Given the description of an element on the screen output the (x, y) to click on. 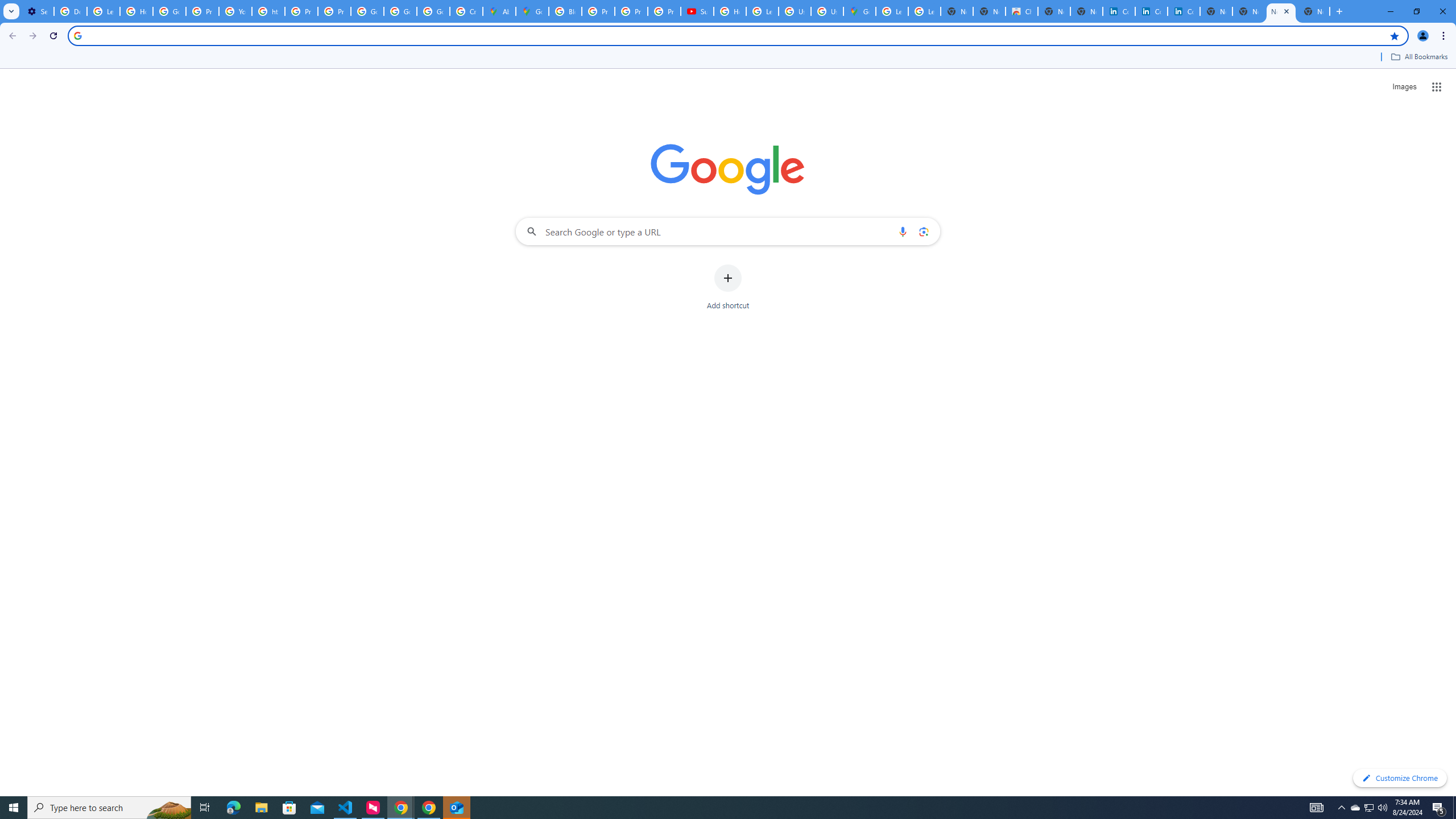
Search by image (922, 230)
Back (10, 35)
Add shortcut (727, 287)
Search by voice (902, 230)
Address and search bar (735, 35)
YouTube (235, 11)
You (1422, 35)
Minimize (1390, 11)
New Tab (1313, 11)
Copyright Policy (1183, 11)
Search icon (77, 35)
Create your Google Account (465, 11)
